Given the description of an element on the screen output the (x, y) to click on. 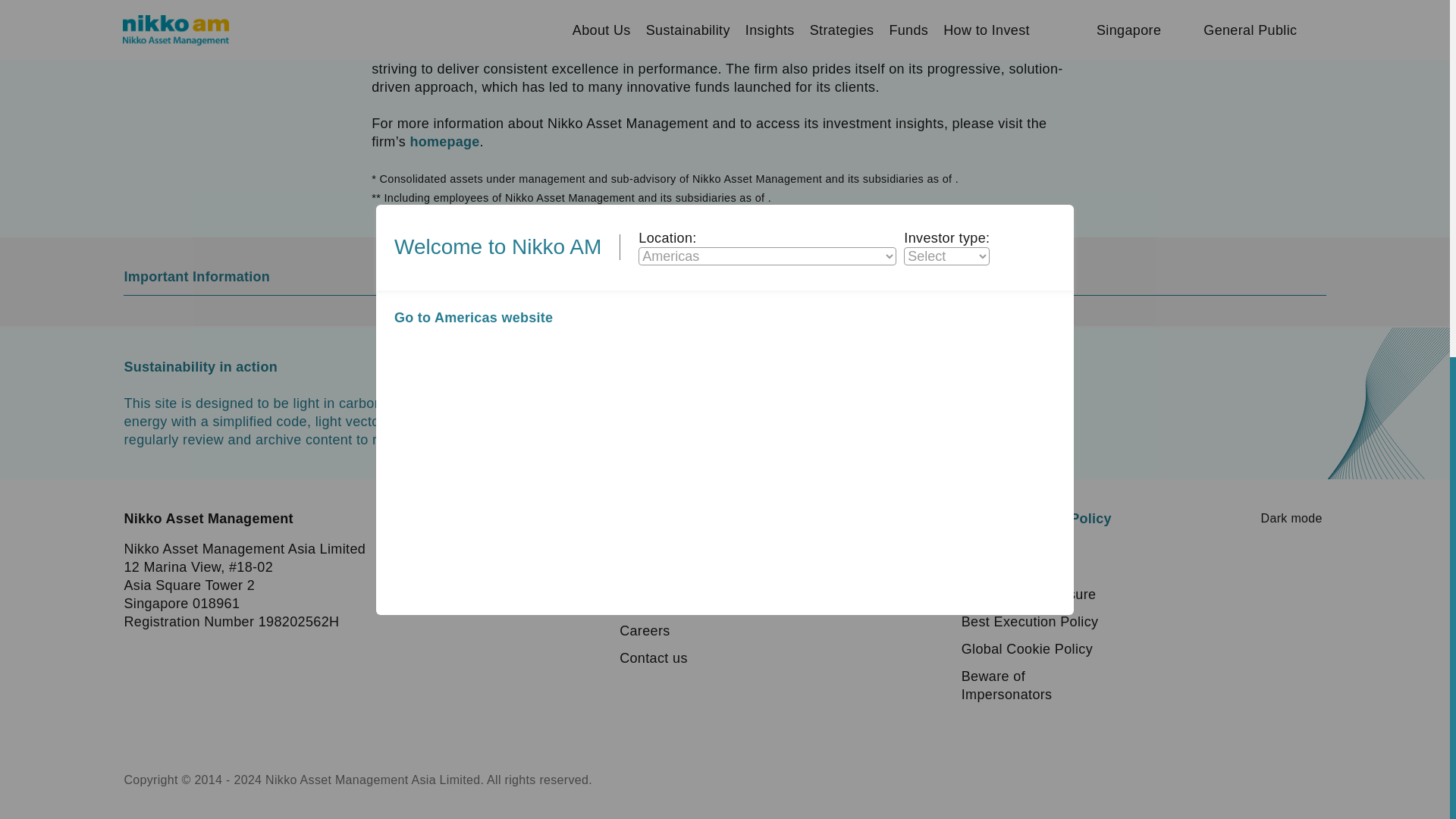
homepage (444, 141)
